Given the description of an element on the screen output the (x, y) to click on. 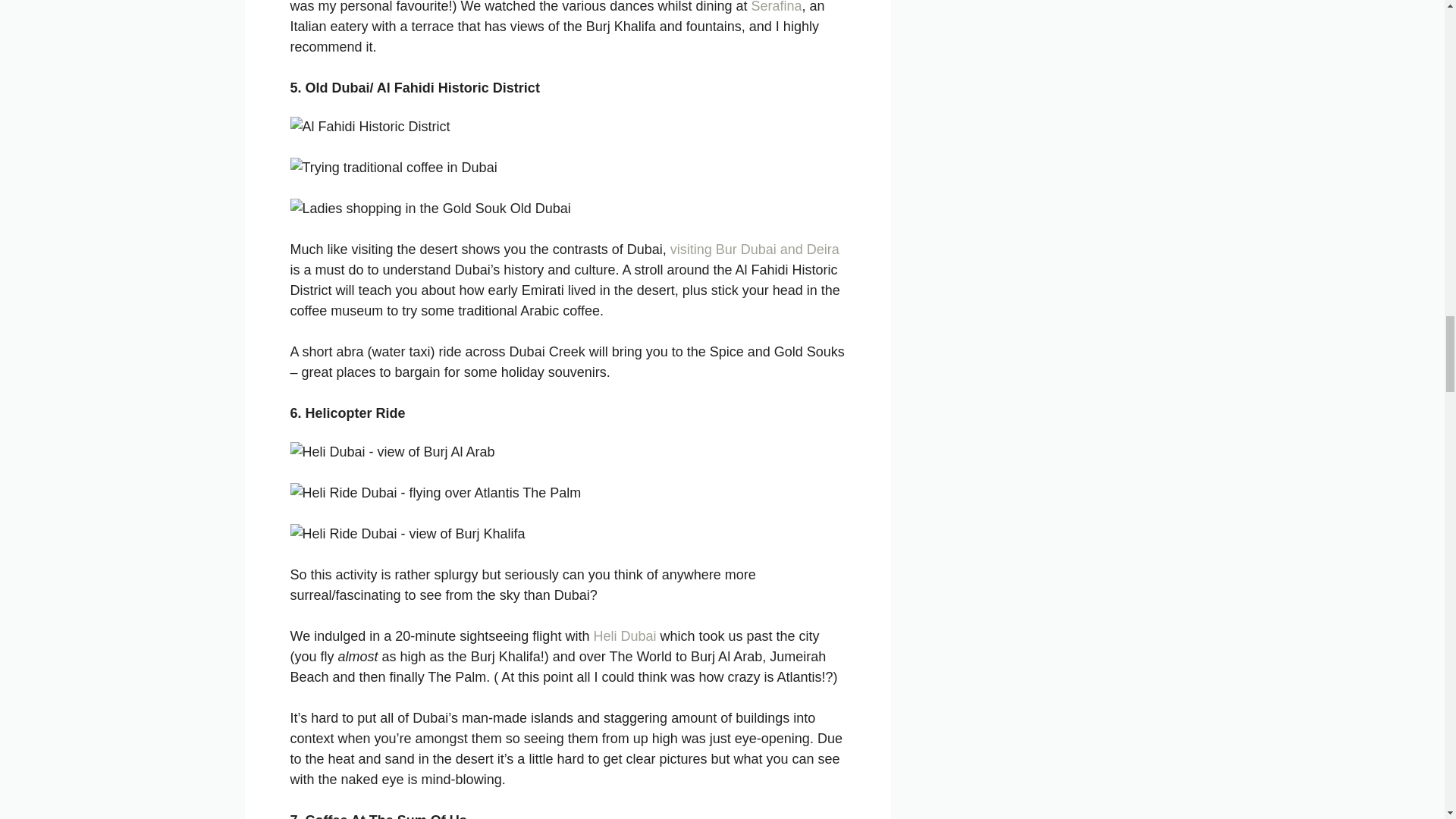
visiting Bur Dubai and Deira (754, 249)
Serafina (776, 6)
Heli Dubai (624, 635)
